Given the description of an element on the screen output the (x, y) to click on. 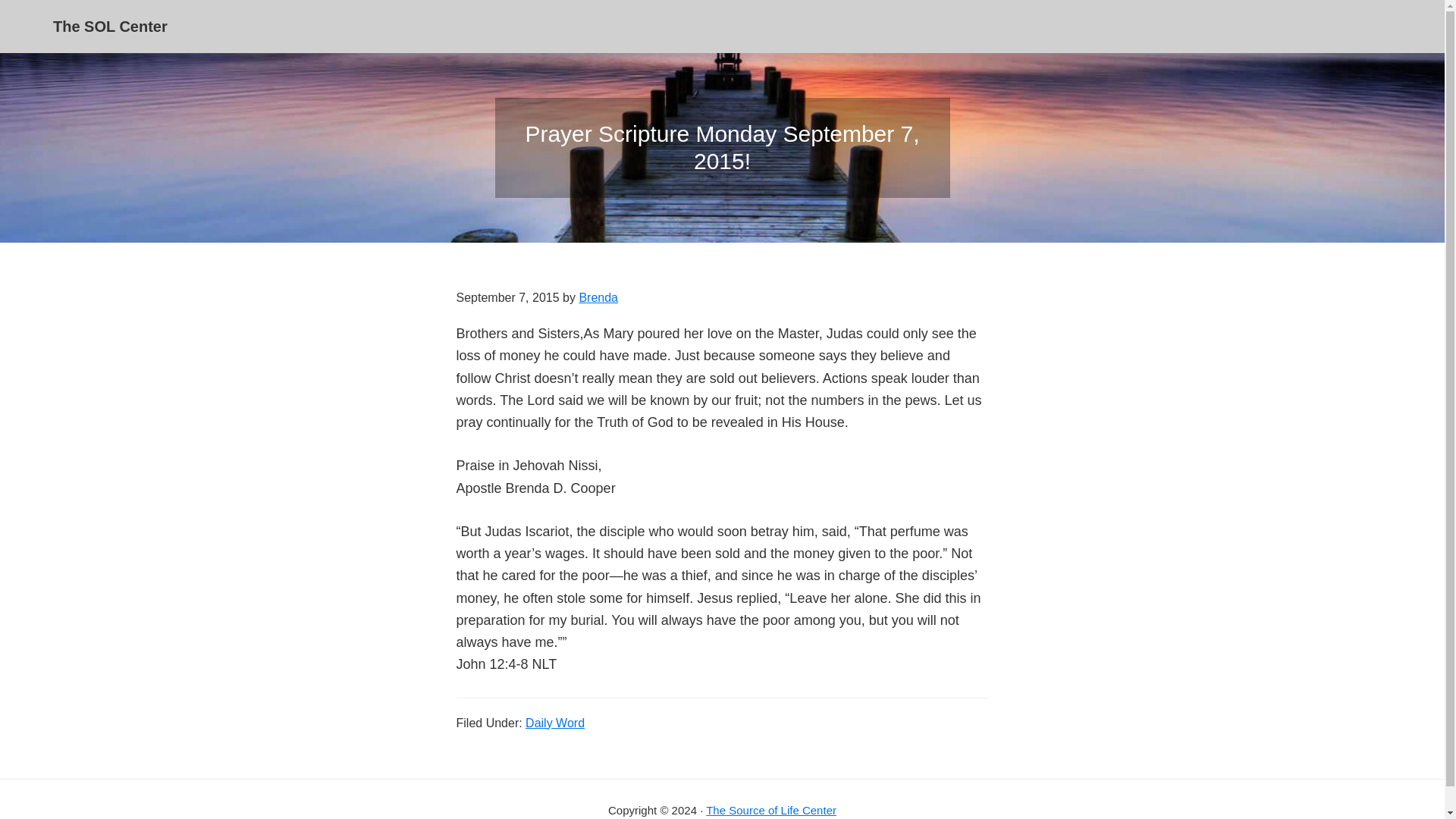
Brenda (597, 297)
The Source of Life Center (770, 809)
Daily Word (555, 721)
The SOL Center (109, 26)
